Given the description of an element on the screen output the (x, y) to click on. 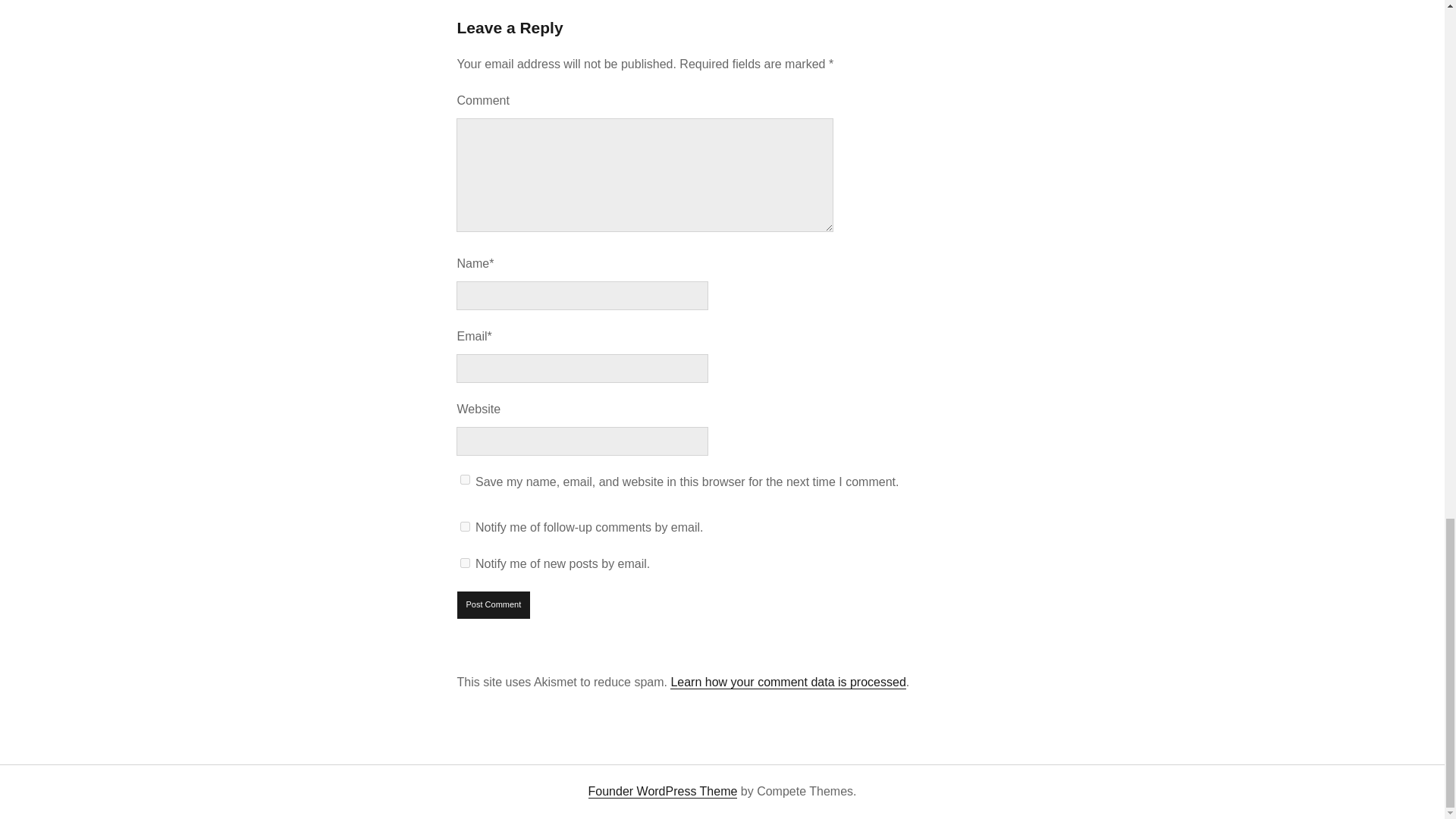
yes (465, 479)
Post Comment (494, 605)
subscribe (465, 526)
subscribe (465, 562)
